Given the description of an element on the screen output the (x, y) to click on. 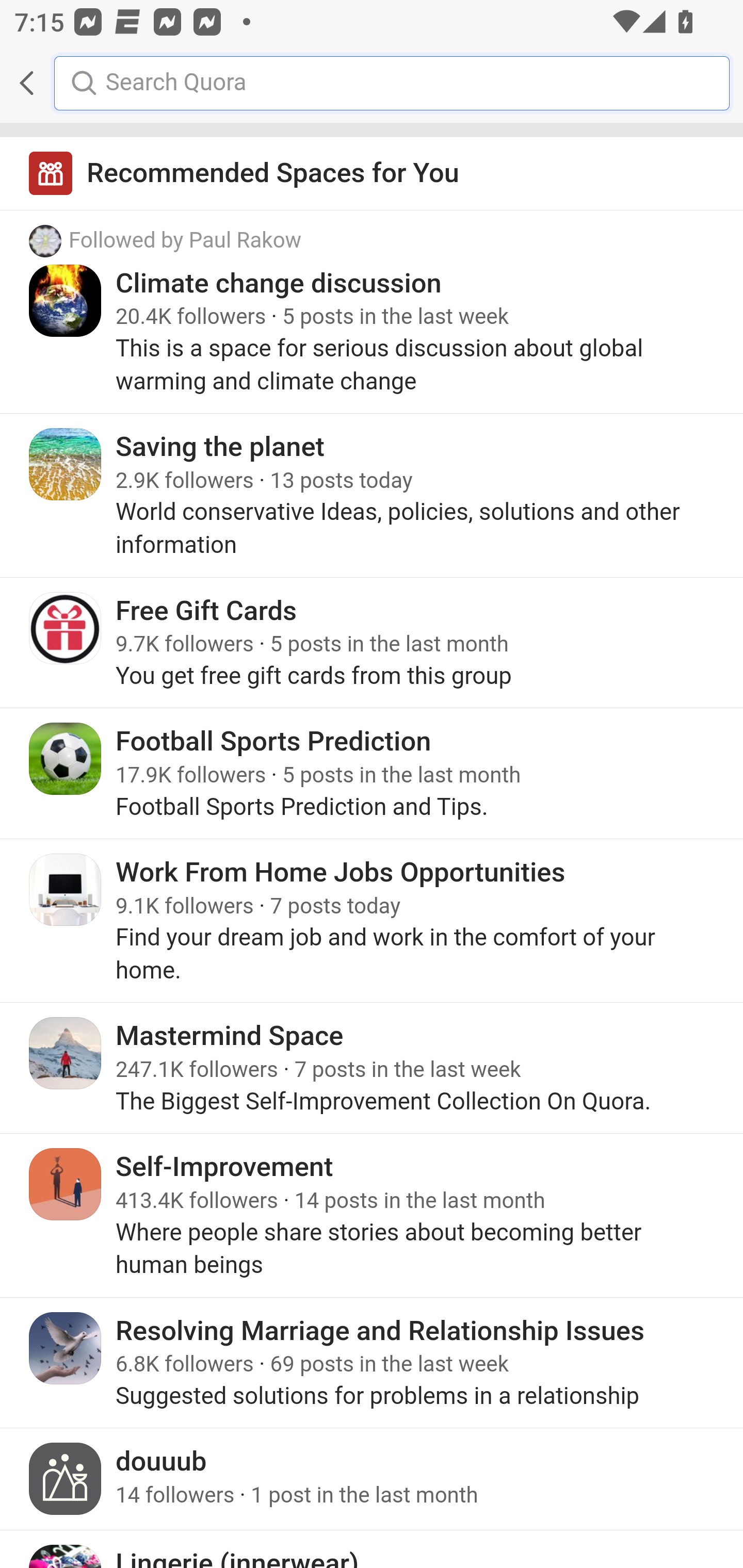
Me Home Search Add (371, 82)
Icon for Climate change discussion (65, 300)
Icon for Saving the planet (65, 464)
Icon for Free Gift Cards (65, 627)
Icon for Football Sports Prediction (65, 759)
Icon for Work From Home Jobs Opportunities (65, 889)
Icon for Mastermind Space (65, 1052)
Icon for Self-Improvement (65, 1184)
Icon for douuub (65, 1479)
